Given the description of an element on the screen output the (x, y) to click on. 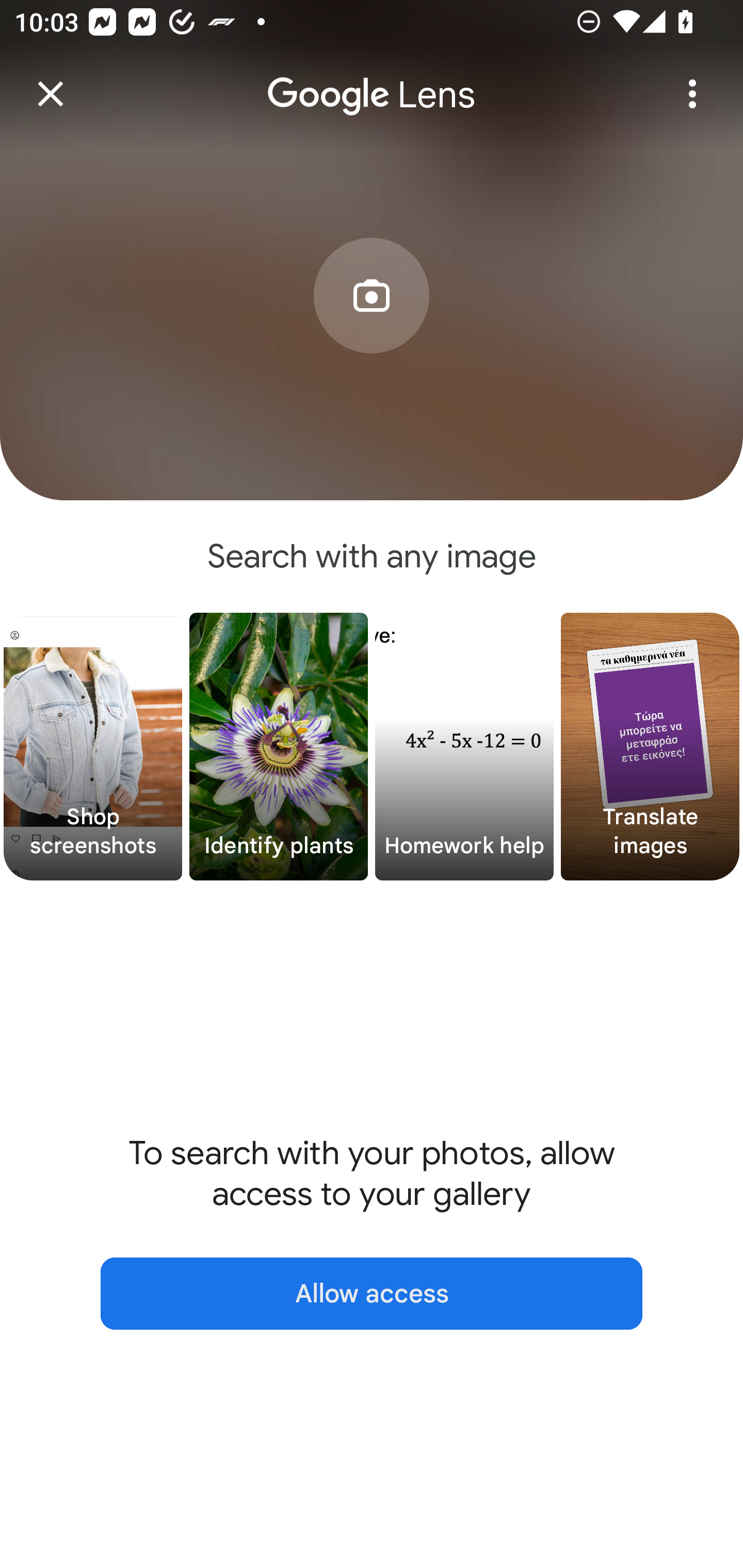
Google Lens Lens (371, 80)
Close (50, 94)
More options (692, 94)
Search with your camera (371, 326)
Shop screenshots (92, 747)
Identify plants (278, 747)
Homework help (464, 747)
Translate images (649, 747)
Allow access (371, 1293)
